Given the description of an element on the screen output the (x, y) to click on. 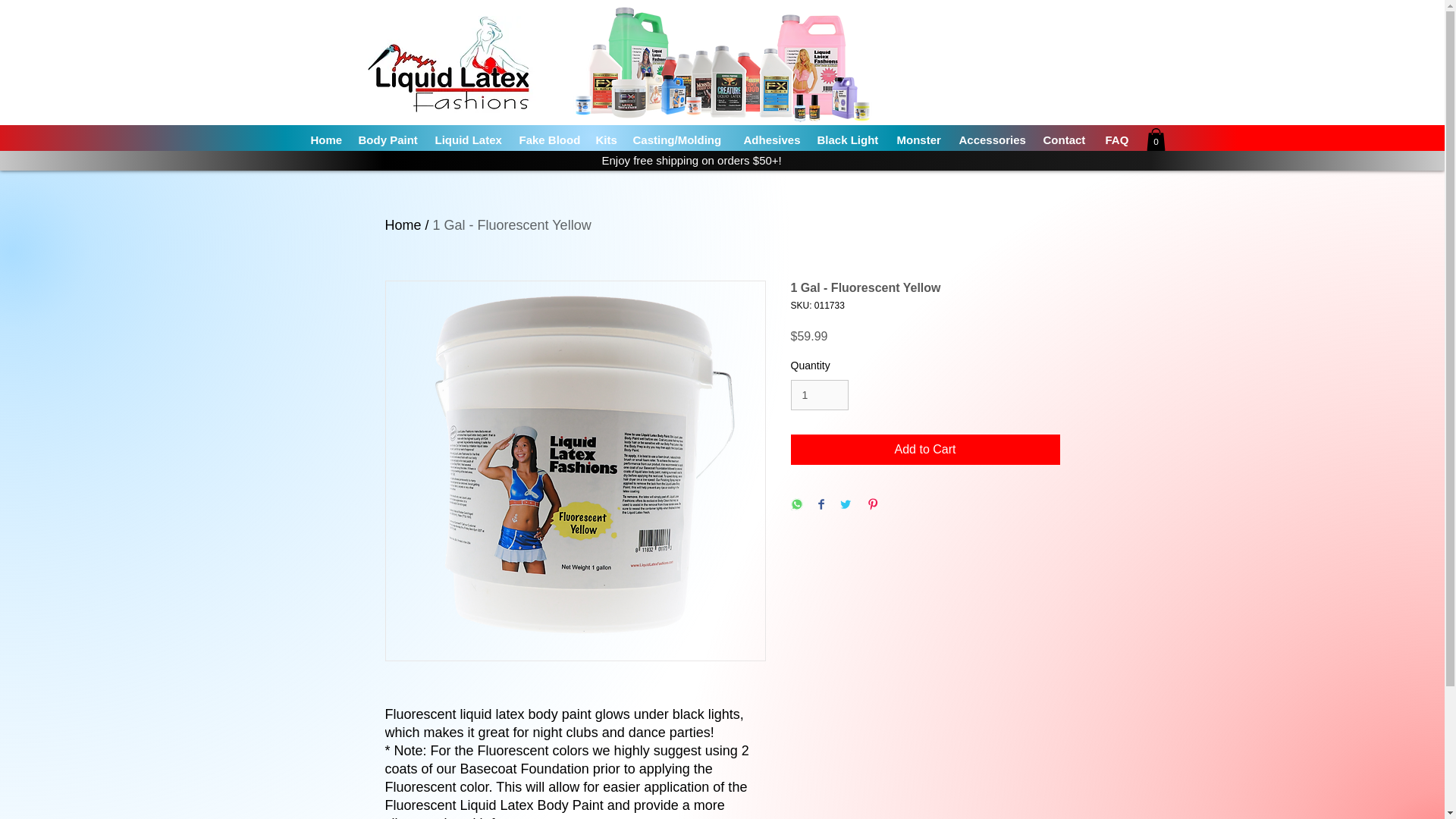
FAQ (1116, 139)
Adhesives (772, 139)
Black Light (849, 139)
Fake Blood (549, 139)
Monster (919, 139)
Liquid Latex (470, 139)
1 (818, 395)
Contact (1066, 139)
Accessories (992, 139)
Kits (607, 139)
Home (403, 224)
Body Paint (388, 139)
Home (326, 139)
